Given the description of an element on the screen output the (x, y) to click on. 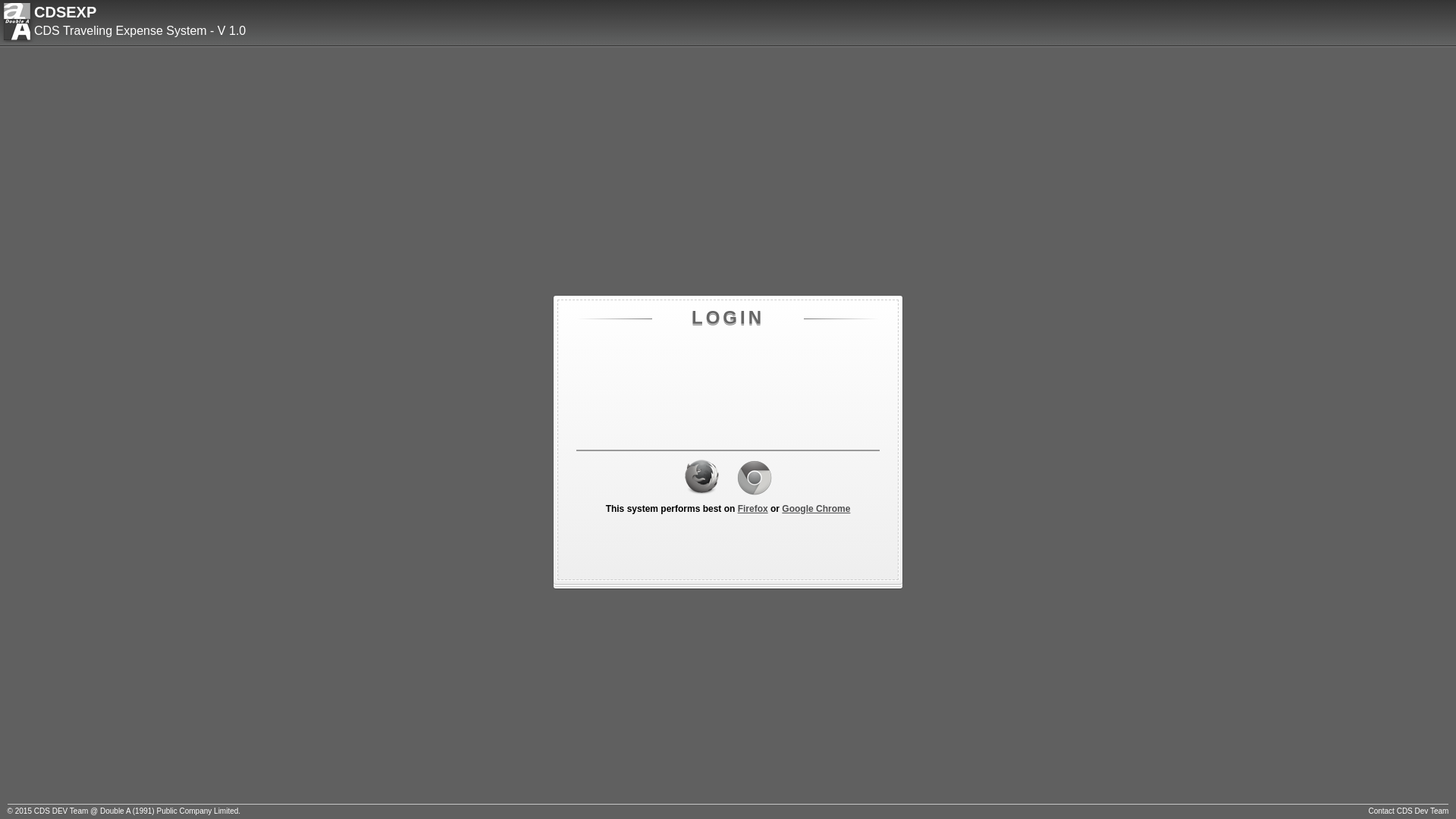
Google Chrome Element type: text (815, 508)
Contact CDS Dev Team Element type: text (1408, 810)
Firefox Element type: text (752, 508)
